Given the description of an element on the screen output the (x, y) to click on. 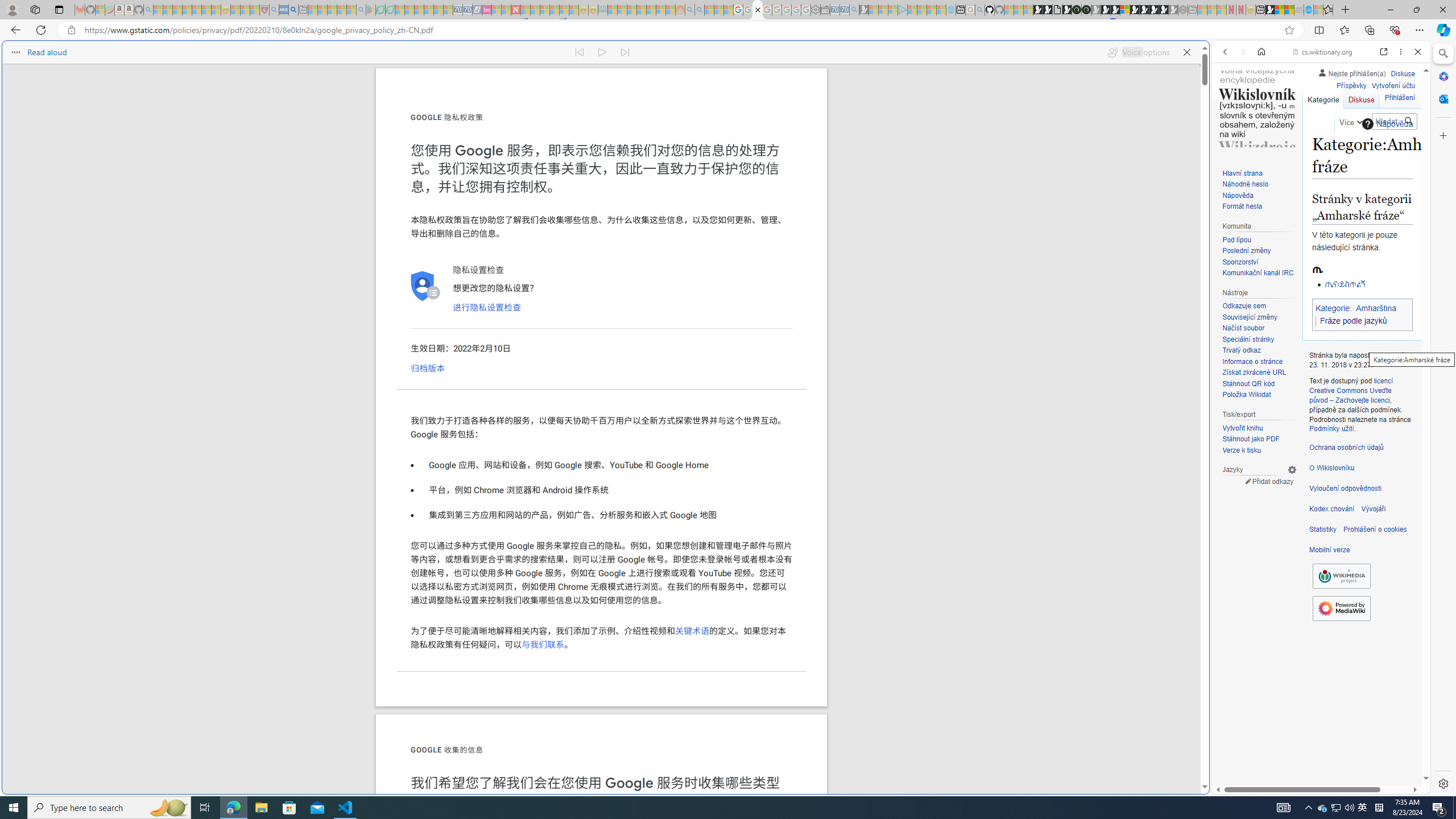
VIDEOS (1300, 130)
Kinda Frugal - MSN - Sleeping (651, 9)
Wallet - Sleeping (824, 9)
Web scope (1230, 102)
Play Zoo Boom in your browser | Games from Microsoft Start (1047, 9)
Continue to read aloud (Ctrl+Shift+U) (602, 52)
